Given the description of an element on the screen output the (x, y) to click on. 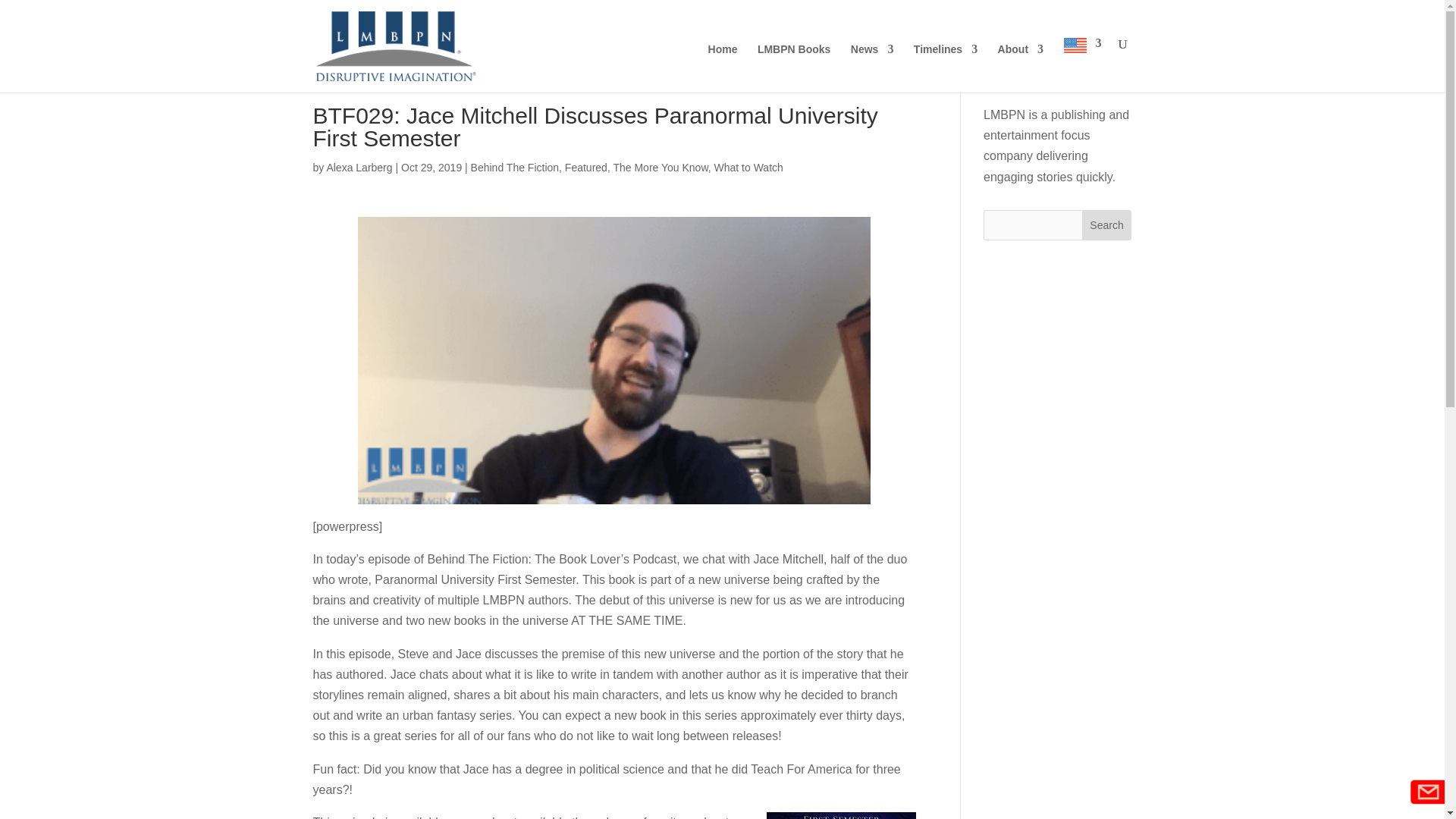
LMBPN Books (793, 68)
What to Watch (748, 167)
Featured (585, 167)
Search (1106, 224)
The More You Know (659, 167)
Alexa Larberg (358, 167)
About (1020, 68)
Timelines (945, 68)
Posts by Alexa Larberg (358, 167)
Behind The Fiction (514, 167)
